Given the description of an element on the screen output the (x, y) to click on. 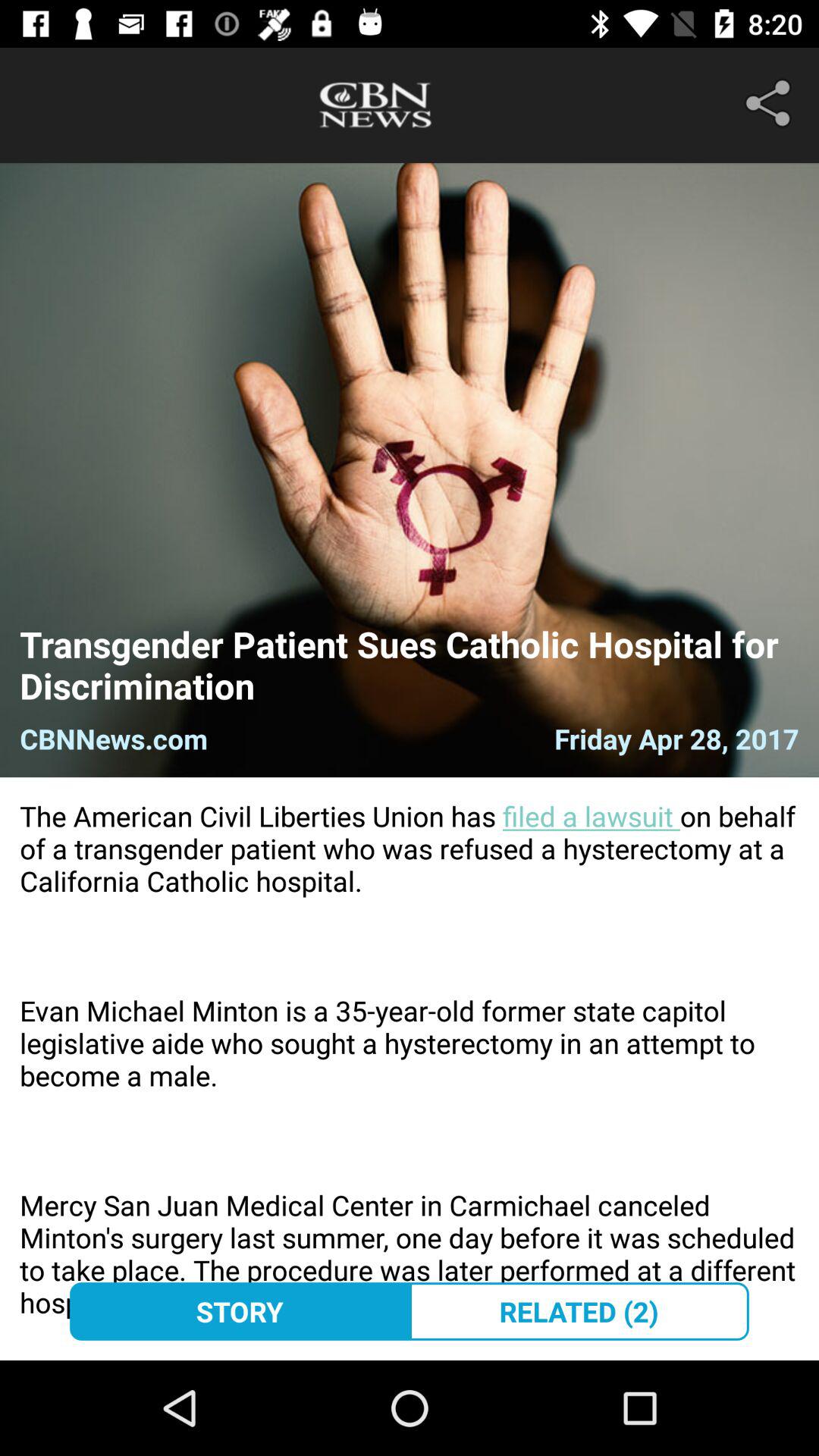
press item at the bottom left corner (239, 1311)
